Given the description of an element on the screen output the (x, y) to click on. 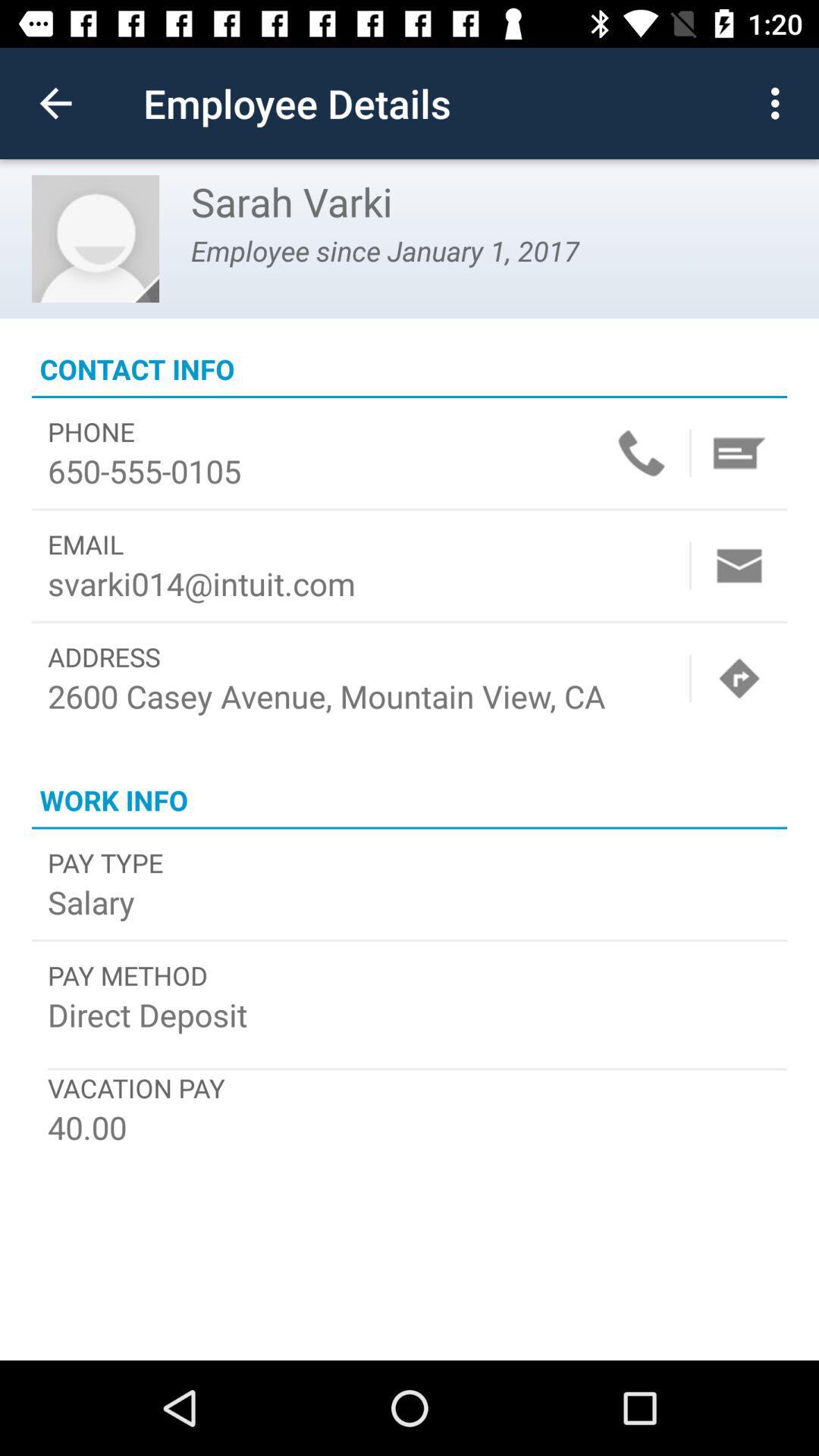
select icon to the left of employee details icon (55, 103)
